Given the description of an element on the screen output the (x, y) to click on. 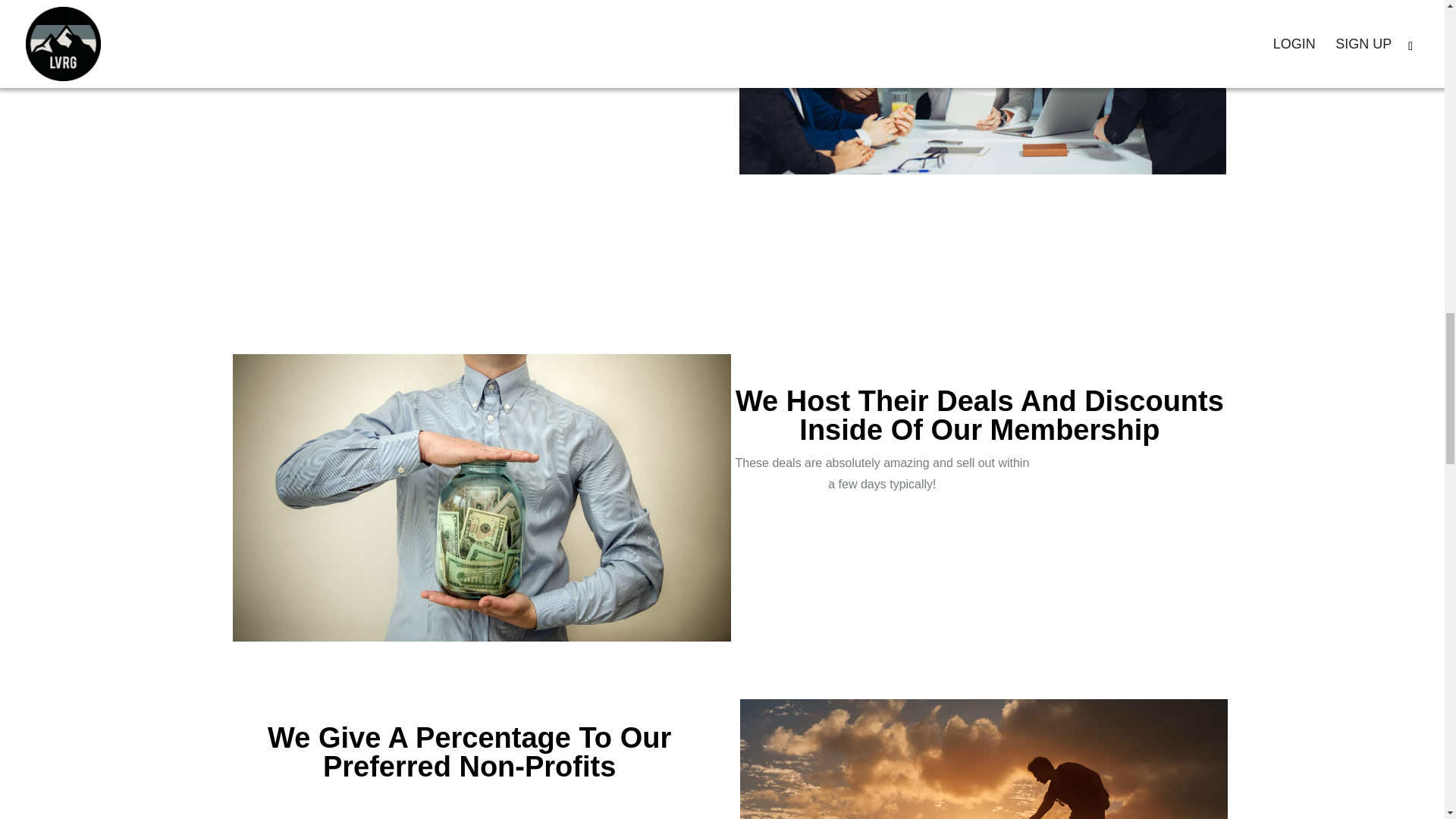
Male,And,Female,Hikers,Climbing,Up,Mountain,Cliff,And,One (983, 759)
